Given the description of an element on the screen output the (x, y) to click on. 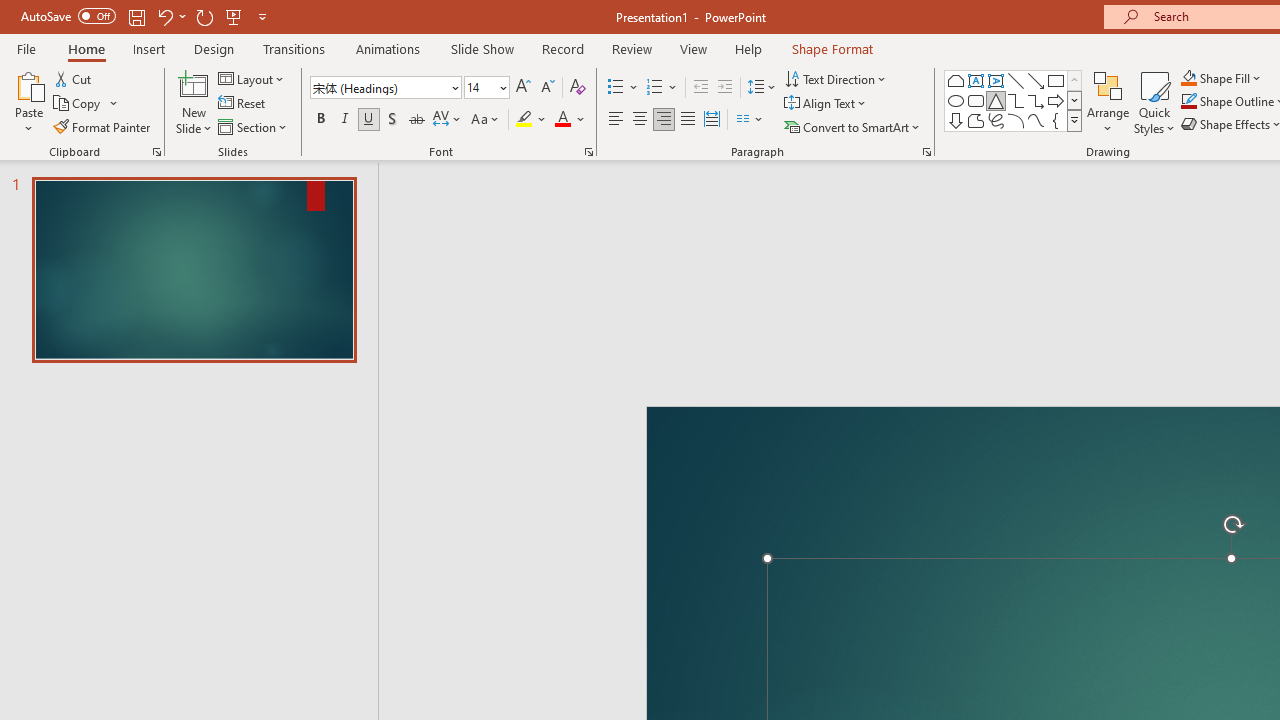
Shape Format (832, 48)
